Given the description of an element on the screen output the (x, y) to click on. 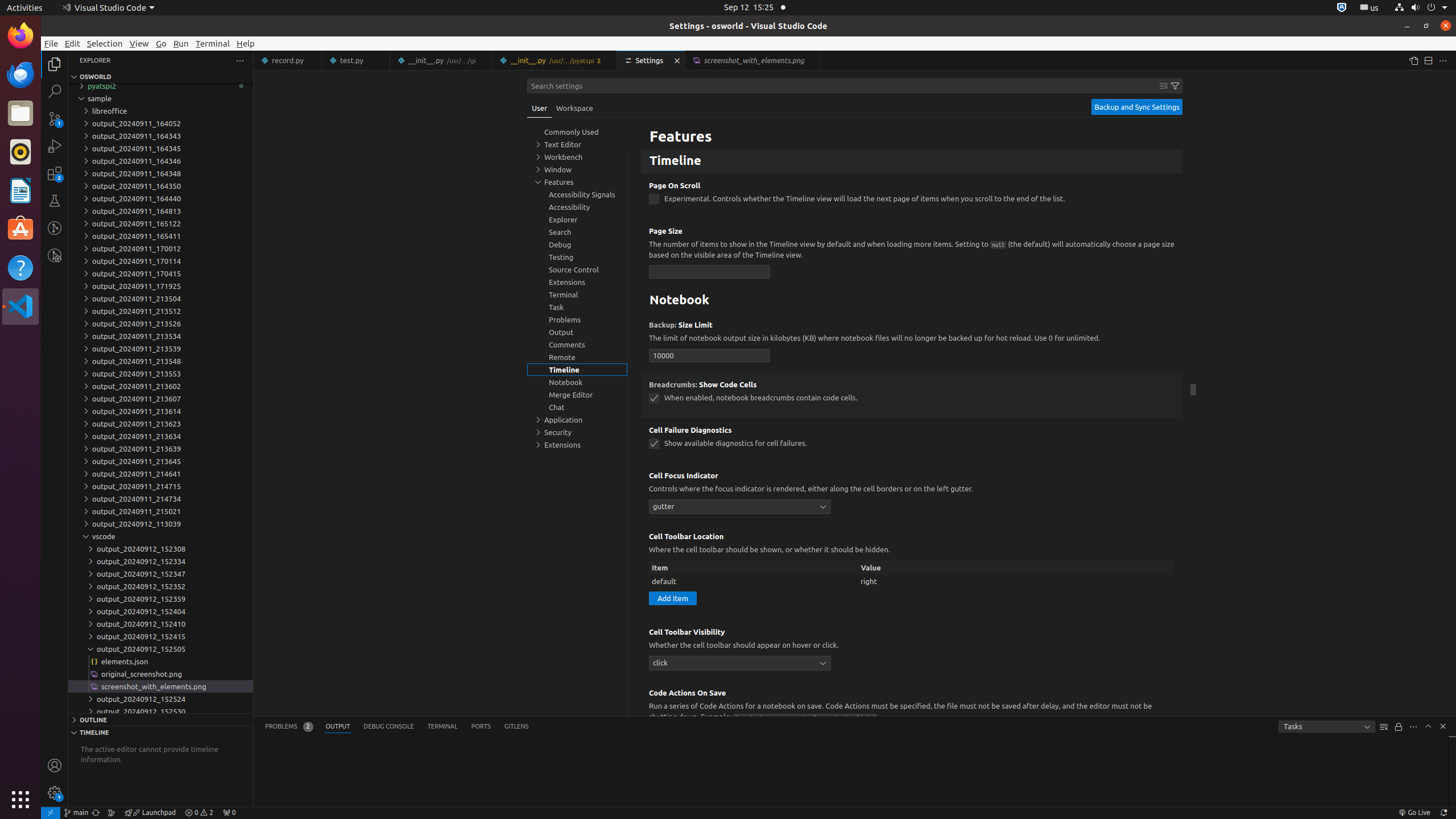
output_20240911_165122 Element type: tree-item (160, 223)
__init__.py Element type: page-tab (554, 60)
screenshot_with_elements.png Element type: tree-item (160, 686)
